Given the description of an element on the screen output the (x, y) to click on. 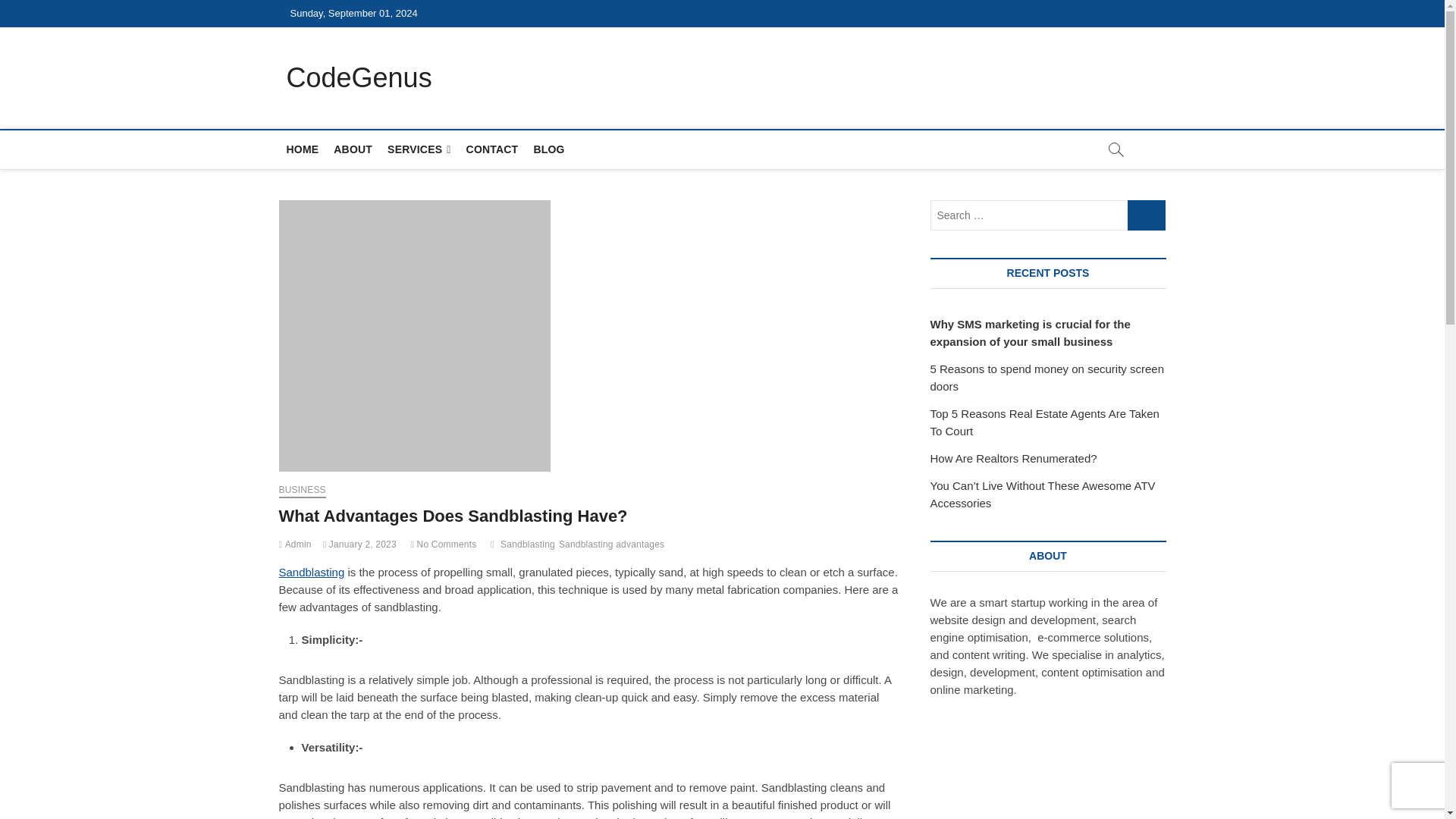
SERVICES (419, 149)
Top 5 Reasons Real Estate Agents Are Taken To Court (1044, 422)
What Advantages Does Sandblasting Have? (295, 543)
No Comments (443, 543)
ABOUT (353, 149)
January 2, 2023 (359, 543)
Sandblasting (312, 571)
BLOG (548, 149)
How Are Realtors Renumerated? (1013, 458)
Sandblasting (529, 545)
